Given the description of an element on the screen output the (x, y) to click on. 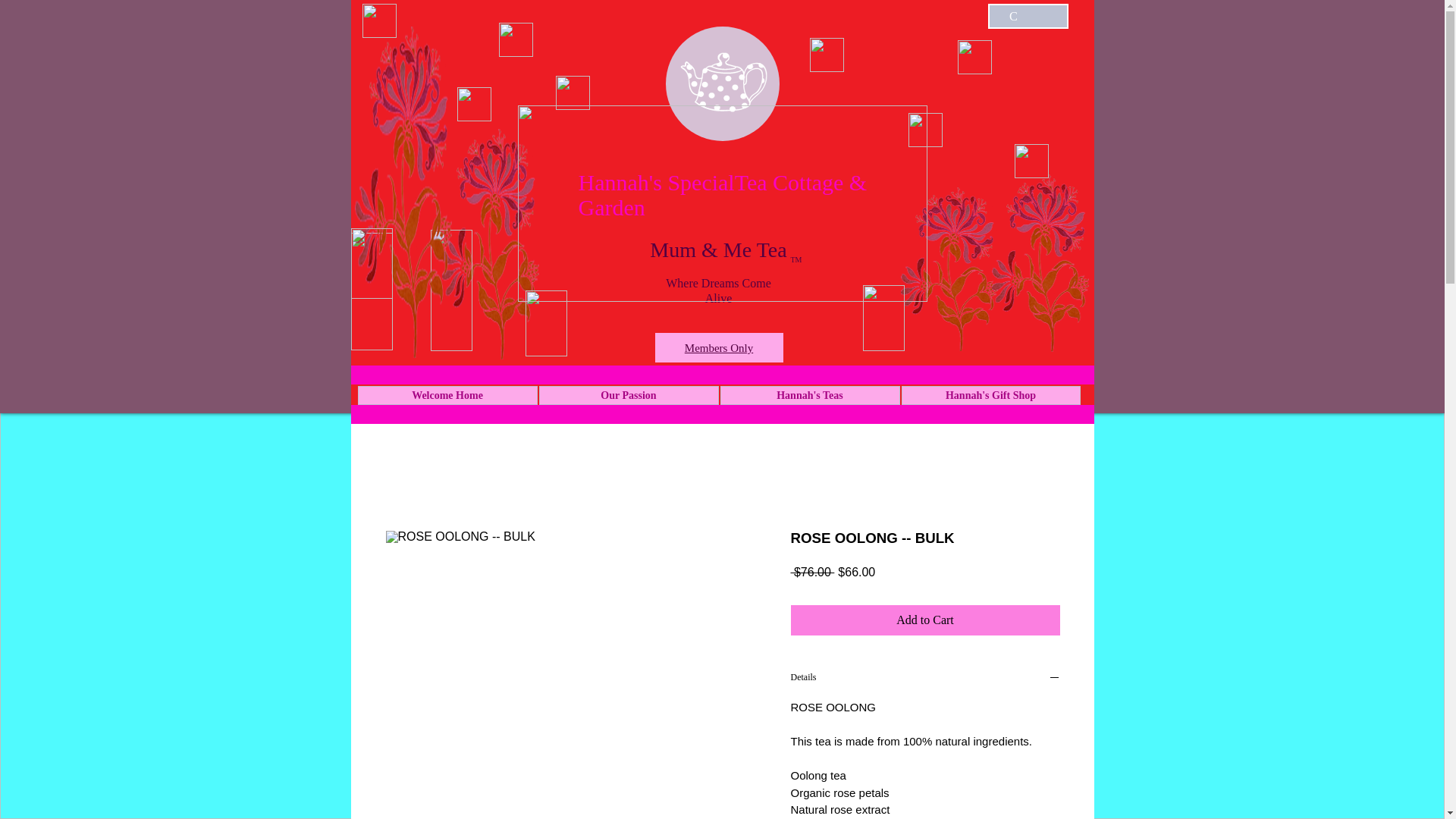
Details (924, 679)
Hannah's Teas (809, 394)
Hannah's Gift Shop (990, 394)
Members Only (718, 347)
Our Passion (627, 394)
Add to Cart (924, 620)
Welcome Home (447, 394)
